Given the description of an element on the screen output the (x, y) to click on. 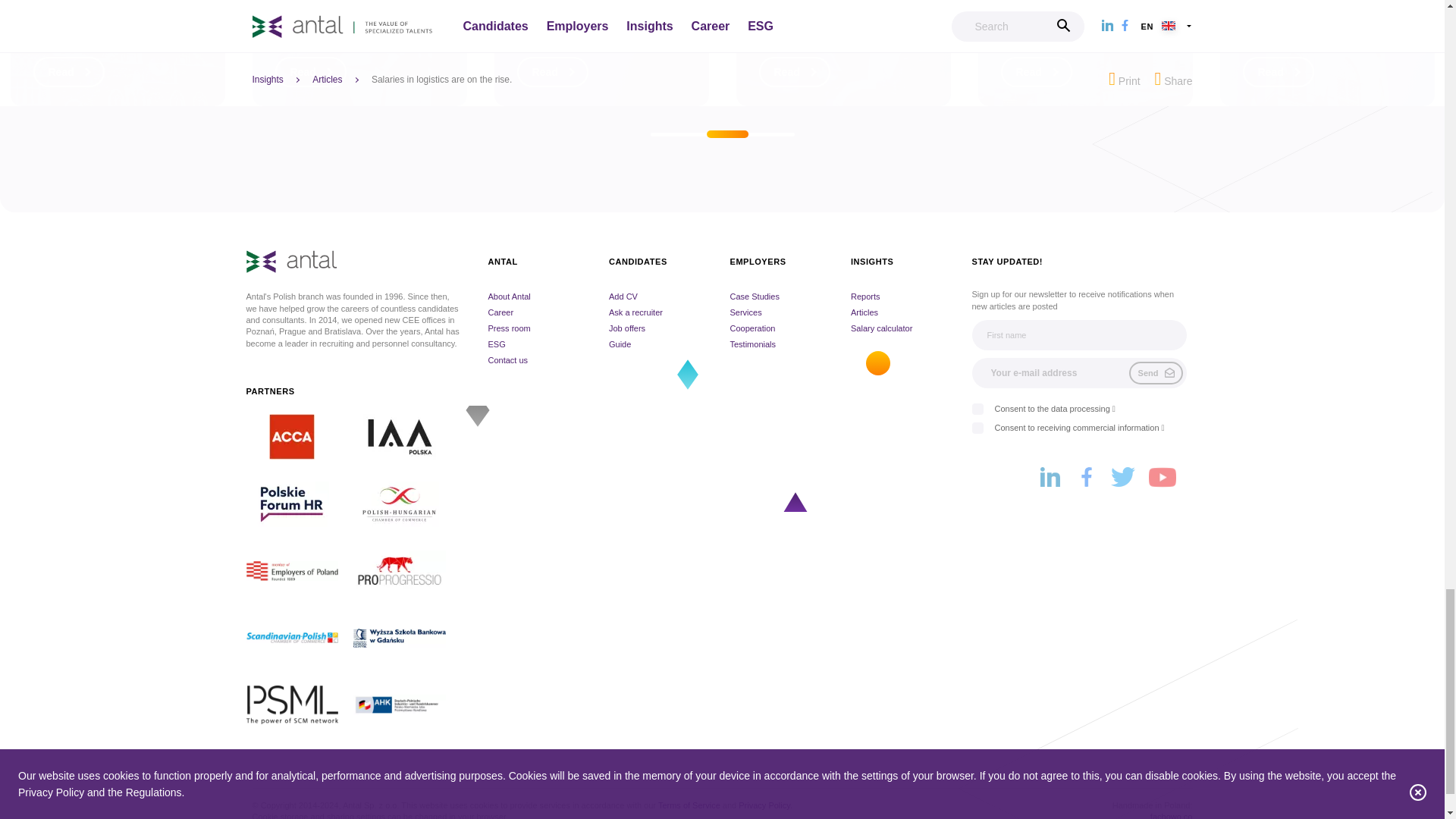
IAA Poland International Advertising Association (407, 436)
Polish-Hungarian Chamber of Commerce (407, 504)
ACCA (299, 436)
Pro Progressio (407, 570)
PSML - Polish Supply Management Leaders (299, 705)
Polish HR Forum (299, 504)
Scandinavian-Polish Chamber of Commerce (299, 637)
Employers of Poland (299, 570)
